Given the description of an element on the screen output the (x, y) to click on. 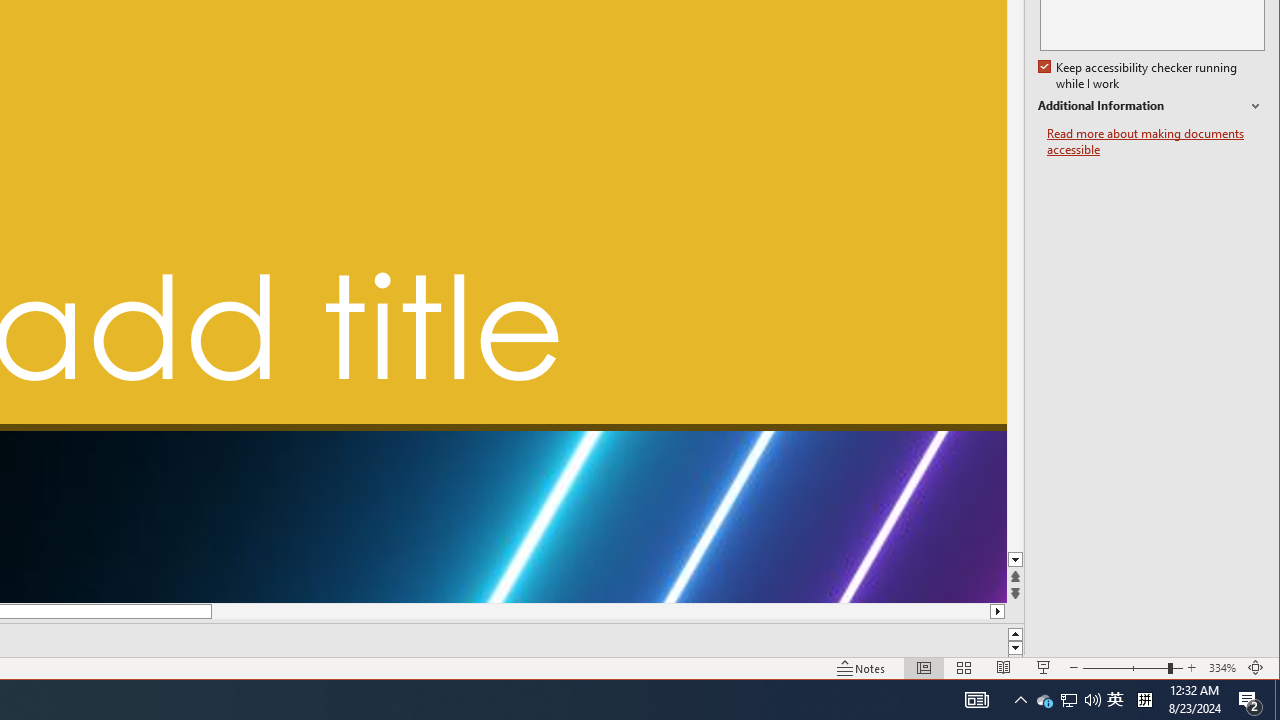
Zoom 334% (1222, 668)
Keep accessibility checker running while I work (1139, 76)
Additional Information (1151, 106)
